Given the description of an element on the screen output the (x, y) to click on. 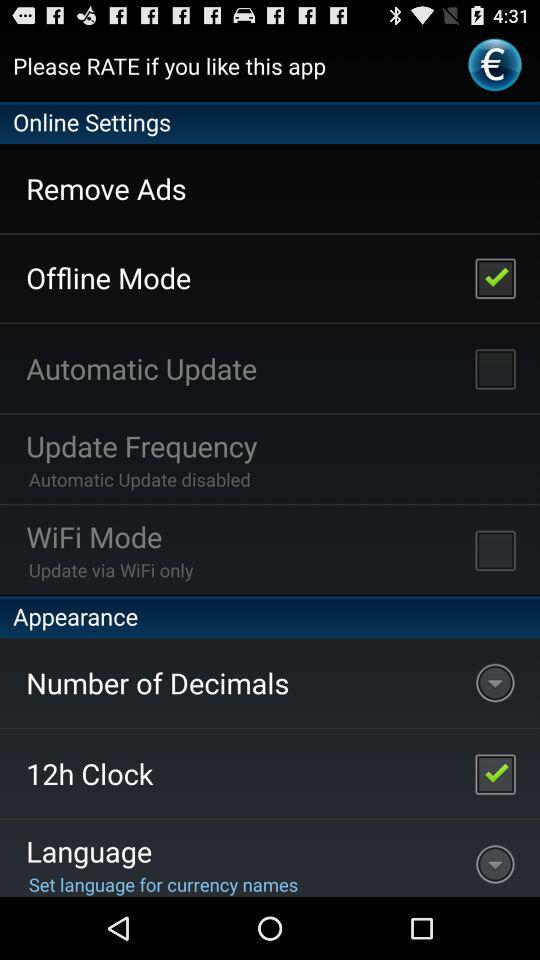
click on appearance 12h clock (495, 773)
